Given the description of an element on the screen output the (x, y) to click on. 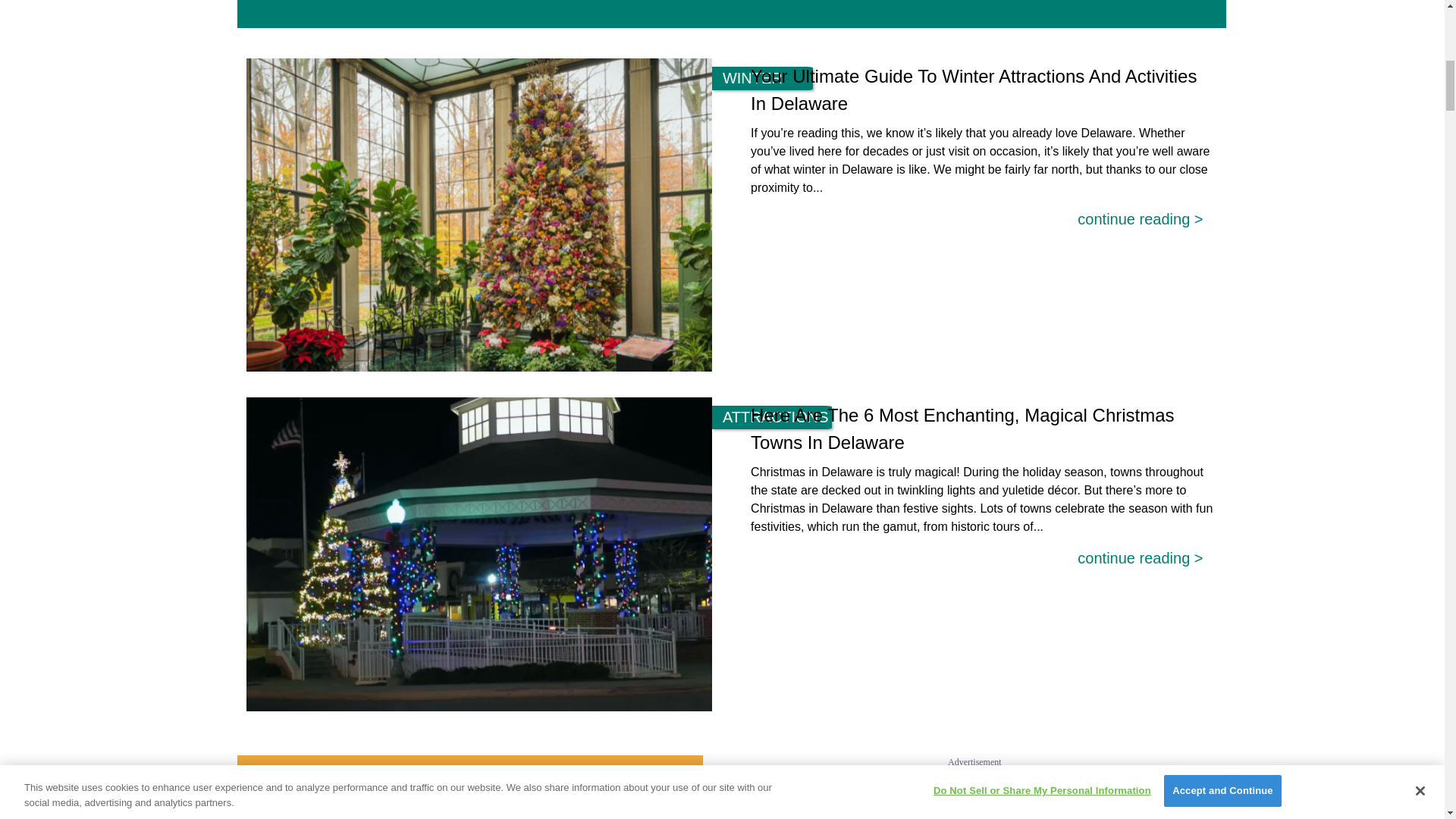
3rd party ad content (973, 794)
